Given the description of an element on the screen output the (x, y) to click on. 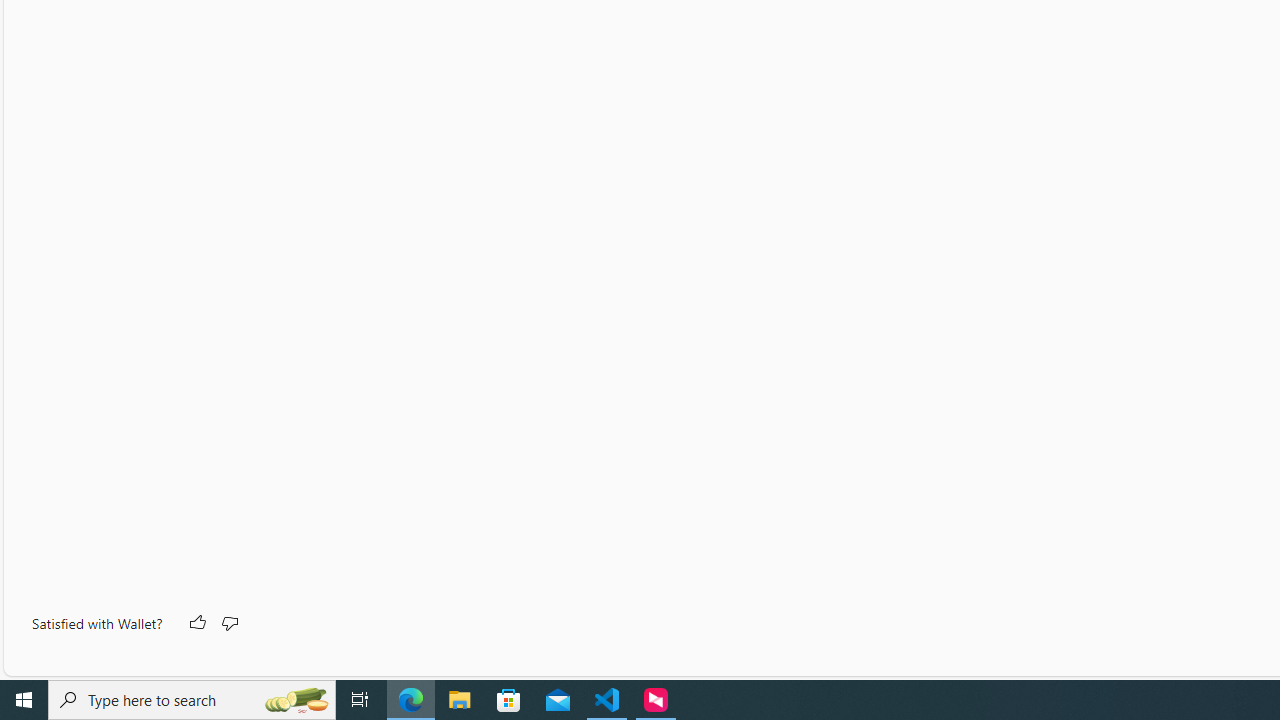
Like (196, 623)
